Given the description of an element on the screen output the (x, y) to click on. 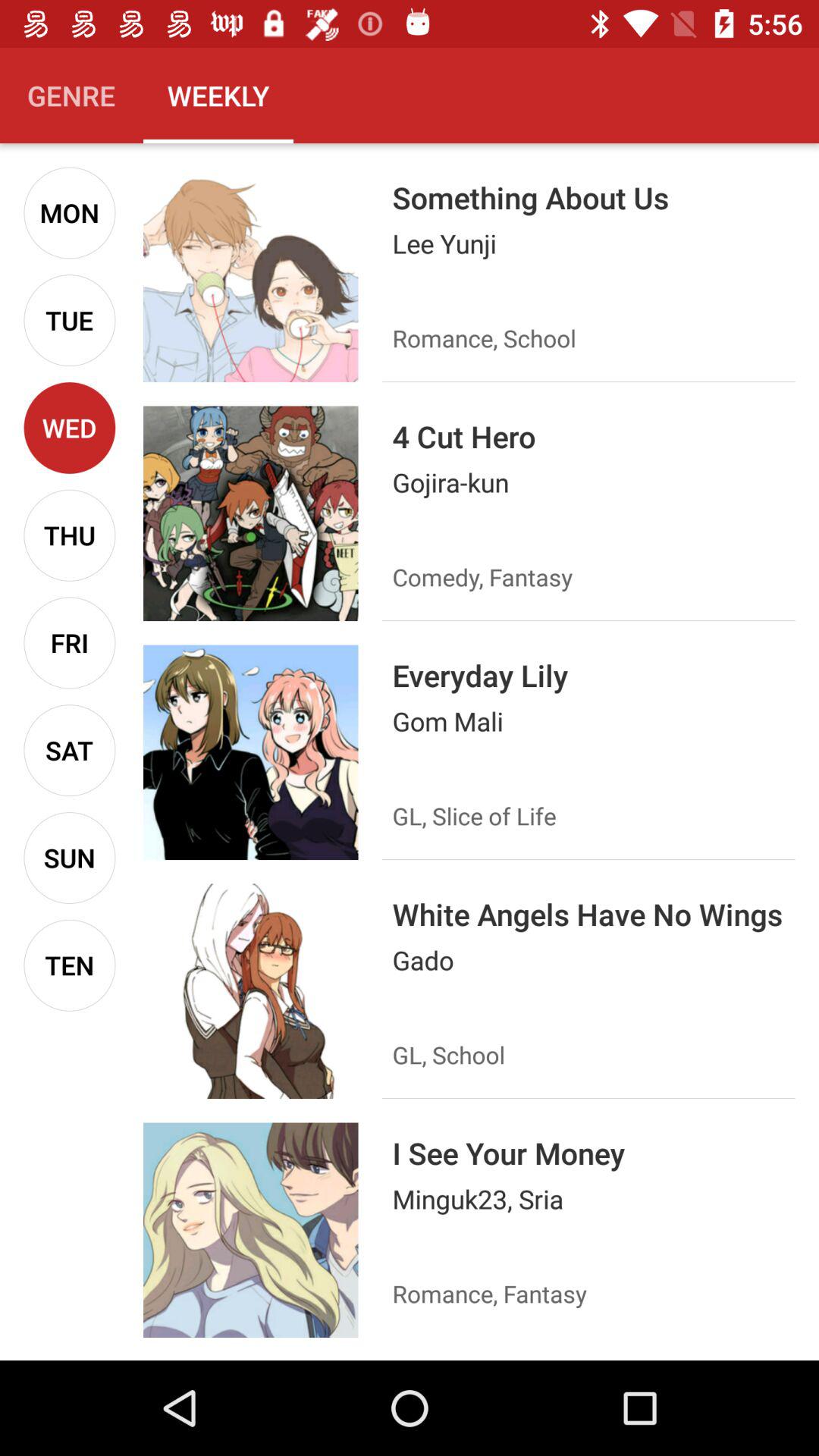
launch the icon below sat icon (69, 857)
